Given the description of an element on the screen output the (x, y) to click on. 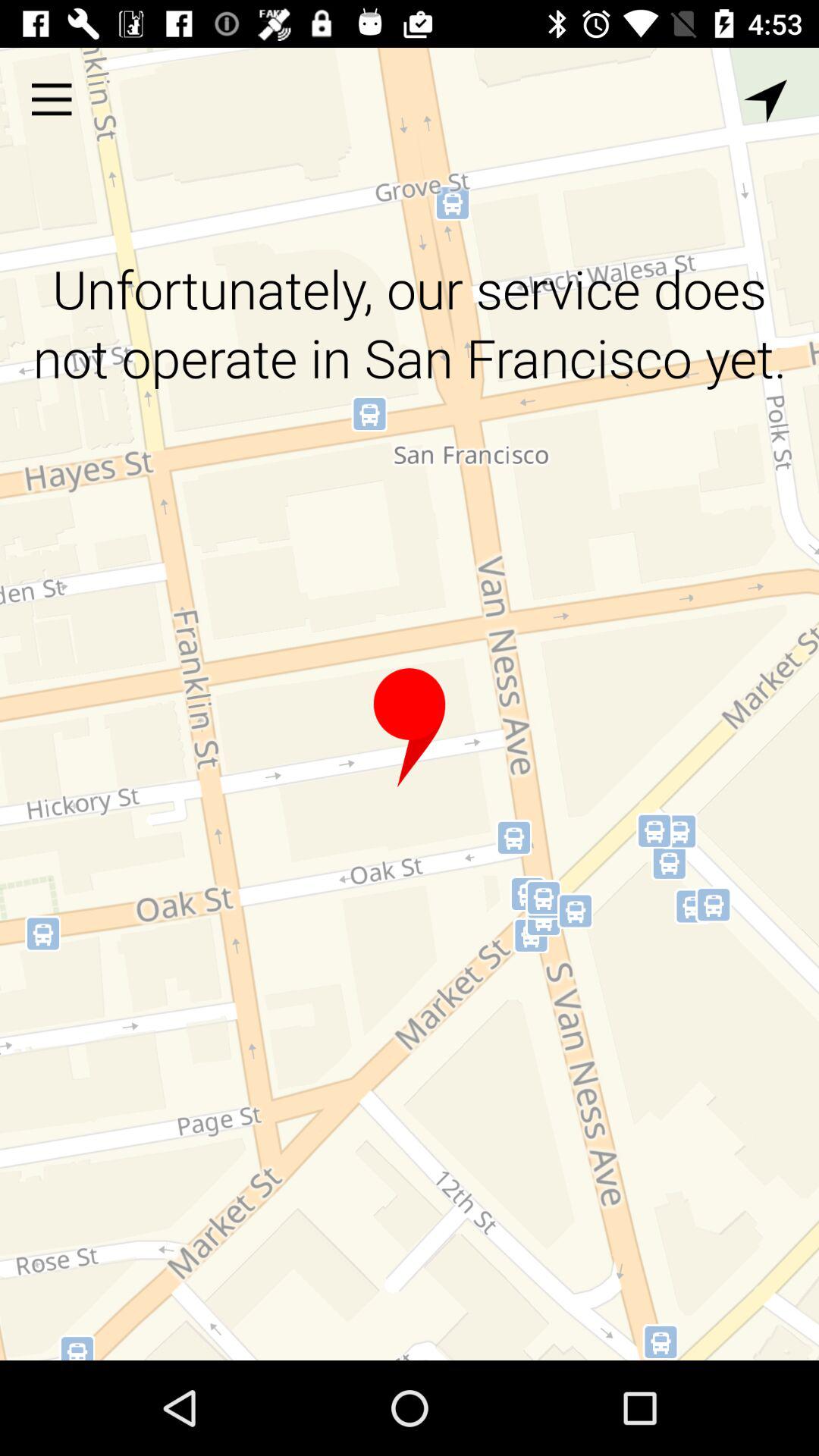
select icon above unfortunately our service (765, 100)
